Given the description of an element on the screen output the (x, y) to click on. 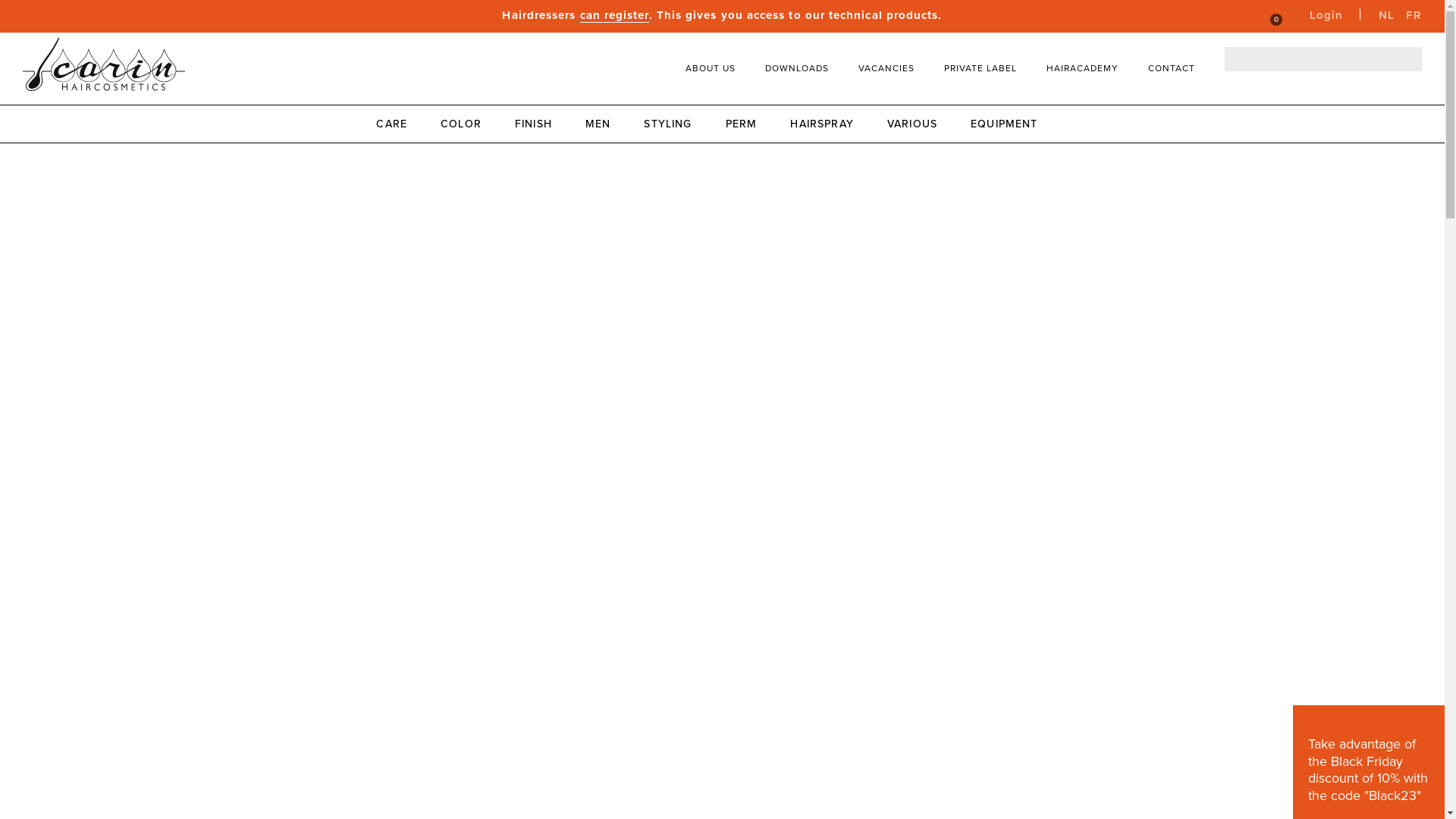
VACANCIES Element type: text (886, 68)
0 Element type: text (1269, 15)
MEN Element type: text (605, 124)
HAIRSPRAY Element type: text (829, 124)
can register Element type: text (614, 15)
PERM Element type: text (748, 124)
PRIVATE LABEL Element type: text (980, 68)
STYLING Element type: text (674, 124)
Apply Element type: text (1402, 59)
Skip to main content Element type: text (0, 0)
COLOR Element type: text (468, 124)
CARE Element type: text (399, 124)
DOWNLOADS Element type: text (796, 68)
CONTACT Element type: text (1171, 68)
FR Element type: text (1413, 16)
Login Element type: text (1316, 16)
FINISH Element type: text (540, 124)
EQUIPMENT Element type: text (1011, 124)
VARIOUS Element type: text (919, 124)
NL Element type: text (1386, 16)
Apply Element type: text (1402, 131)
HAIRACADEMY Element type: text (1082, 68)
Close Element type: text (1427, 722)
ABOUT US Element type: text (710, 68)
